Given the description of an element on the screen output the (x, y) to click on. 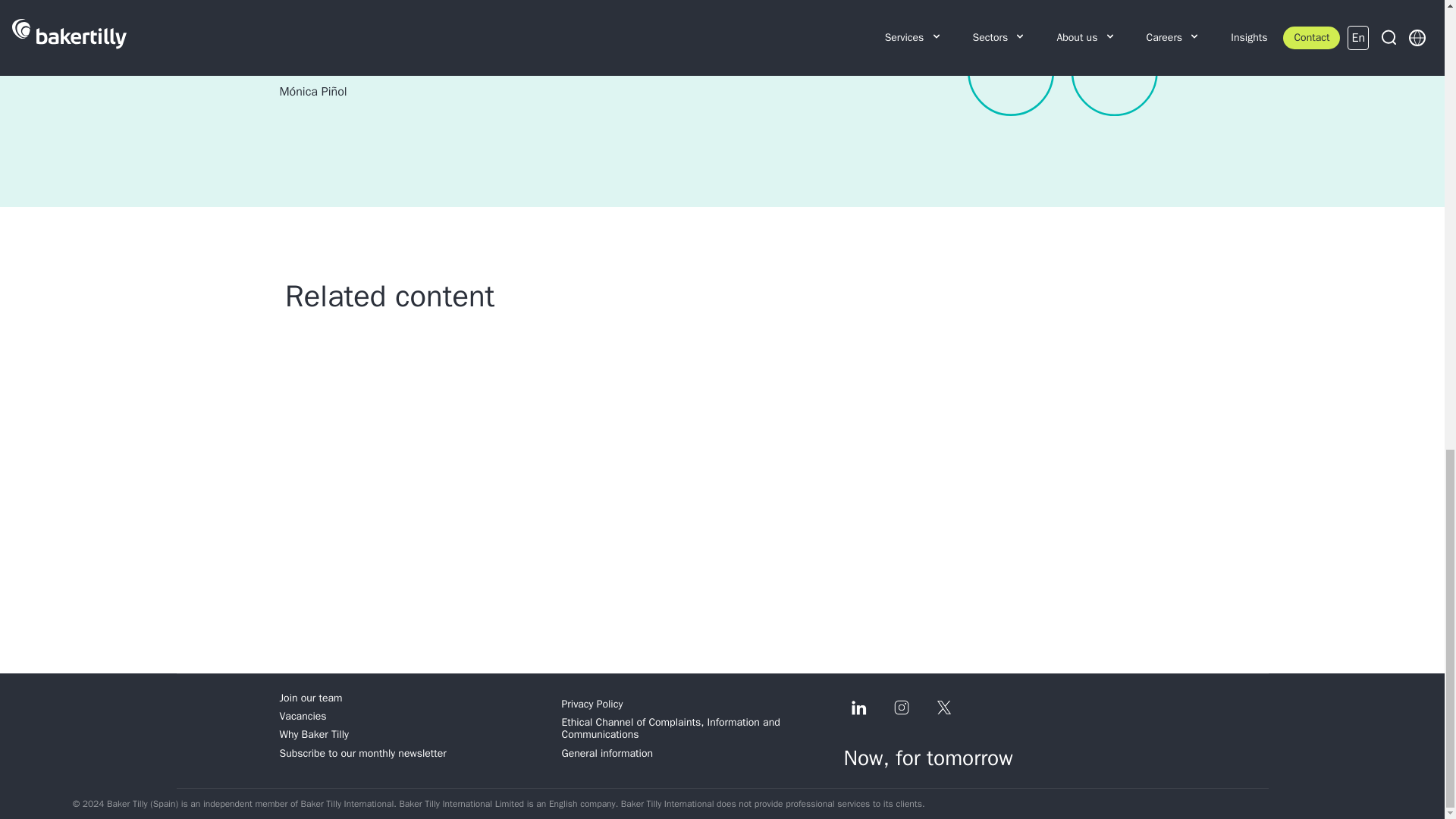
Instagram (900, 707)
LinkedIn (858, 707)
X (943, 707)
